Given the description of an element on the screen output the (x, y) to click on. 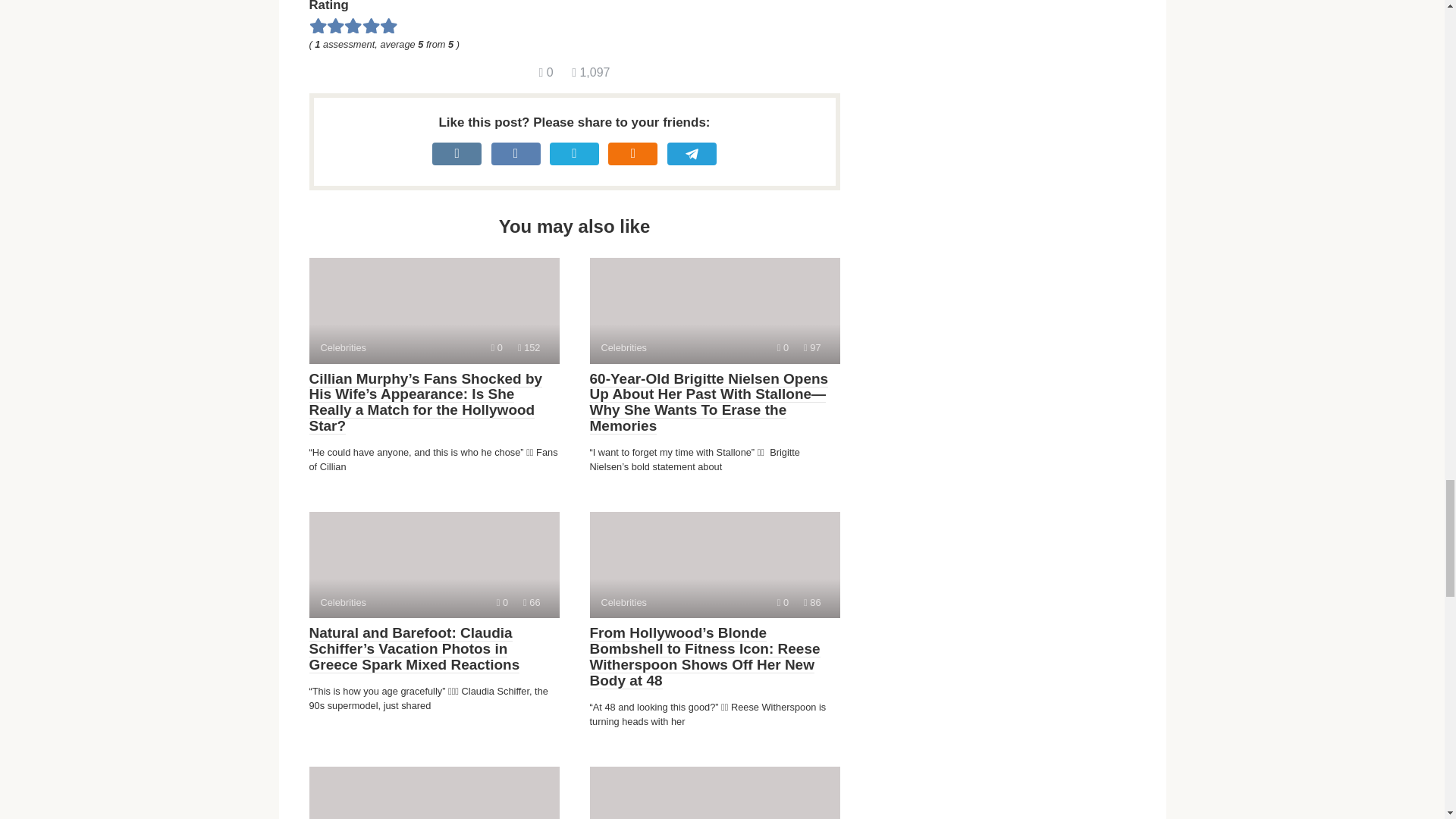
Views (812, 602)
Comments (433, 792)
Views (545, 72)
Comments (529, 347)
Comments (783, 602)
Views (502, 602)
